Given the description of an element on the screen output the (x, y) to click on. 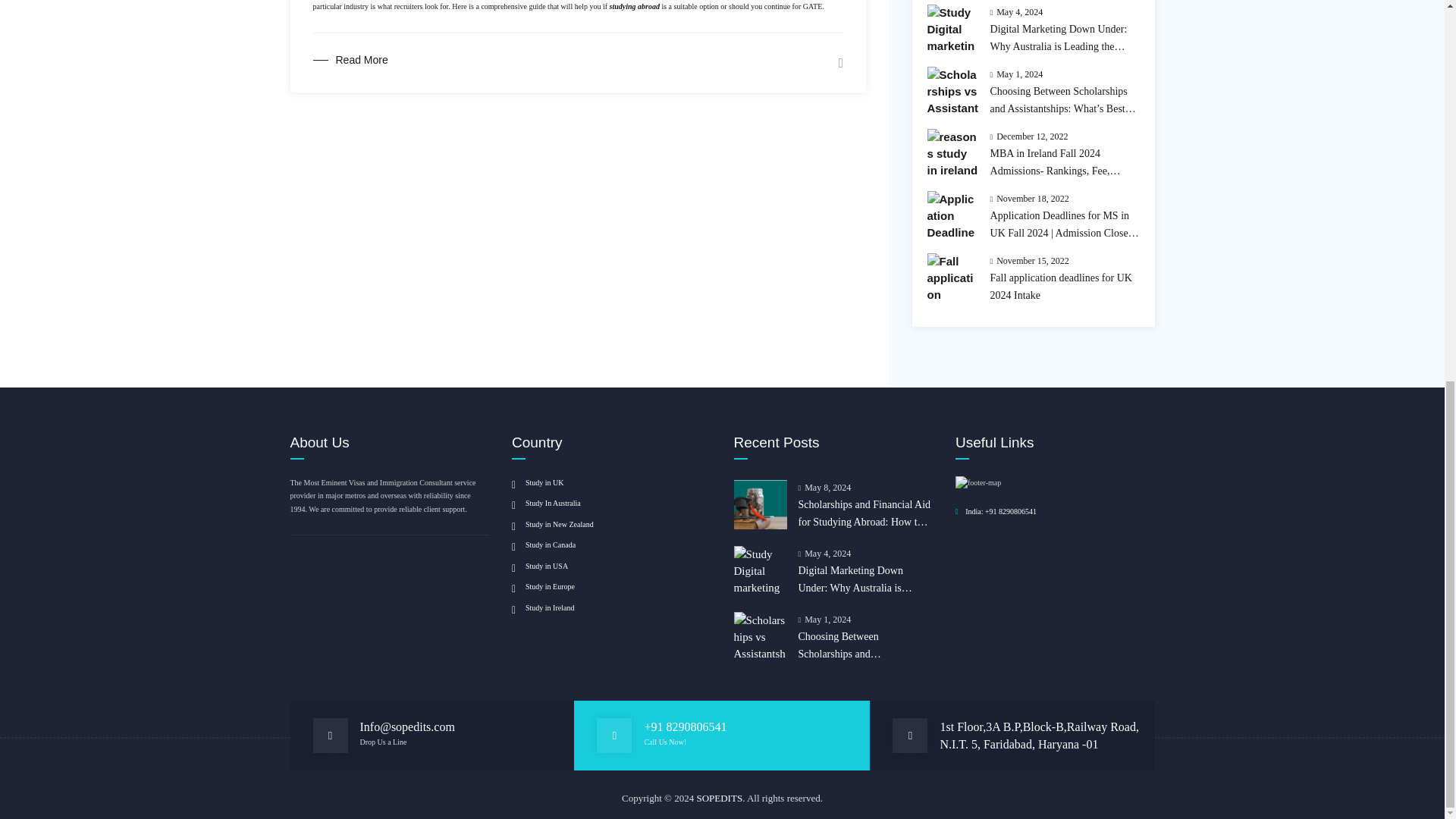
Read More (350, 60)
studying abroad (634, 6)
Useful Links (978, 482)
